Given the description of an element on the screen output the (x, y) to click on. 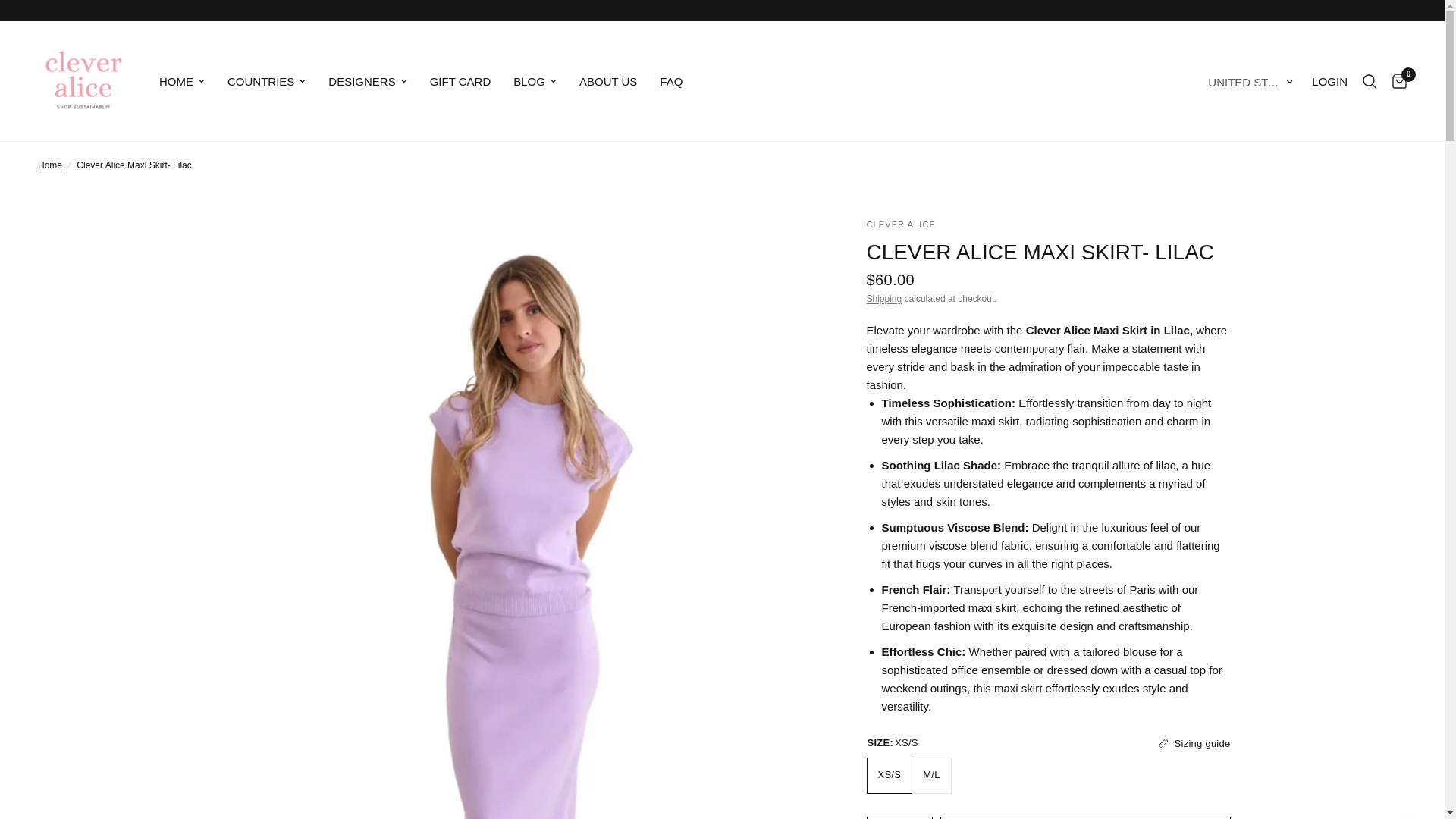
HOME (181, 81)
COUNTRIES (266, 81)
